Given the description of an element on the screen output the (x, y) to click on. 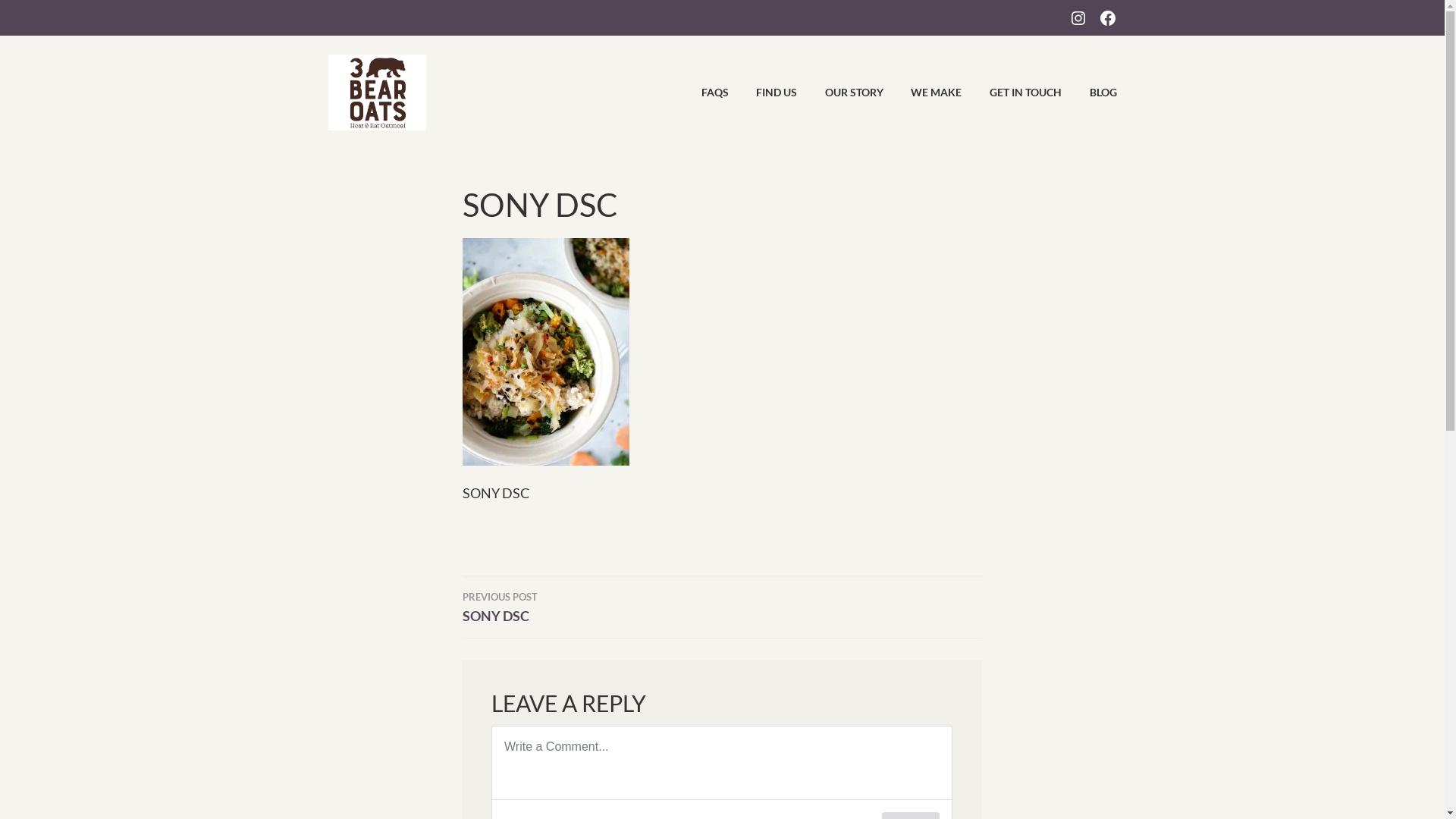
FIND US Element type: text (764, 92)
BLOG Element type: text (1090, 92)
INSTAGRAM Element type: text (1078, 15)
HEAT & EAT GRAIN BOWLS Element type: text (636, 70)
WE MAKE Element type: text (923, 92)
PREVIOUS POST
SONY DSC Element type: text (592, 606)
FACEBOOK Element type: text (1107, 15)
FAQS Element type: text (701, 92)
GET IN TOUCH Element type: text (1012, 92)
OUR STORY Element type: text (841, 92)
